Given the description of an element on the screen output the (x, y) to click on. 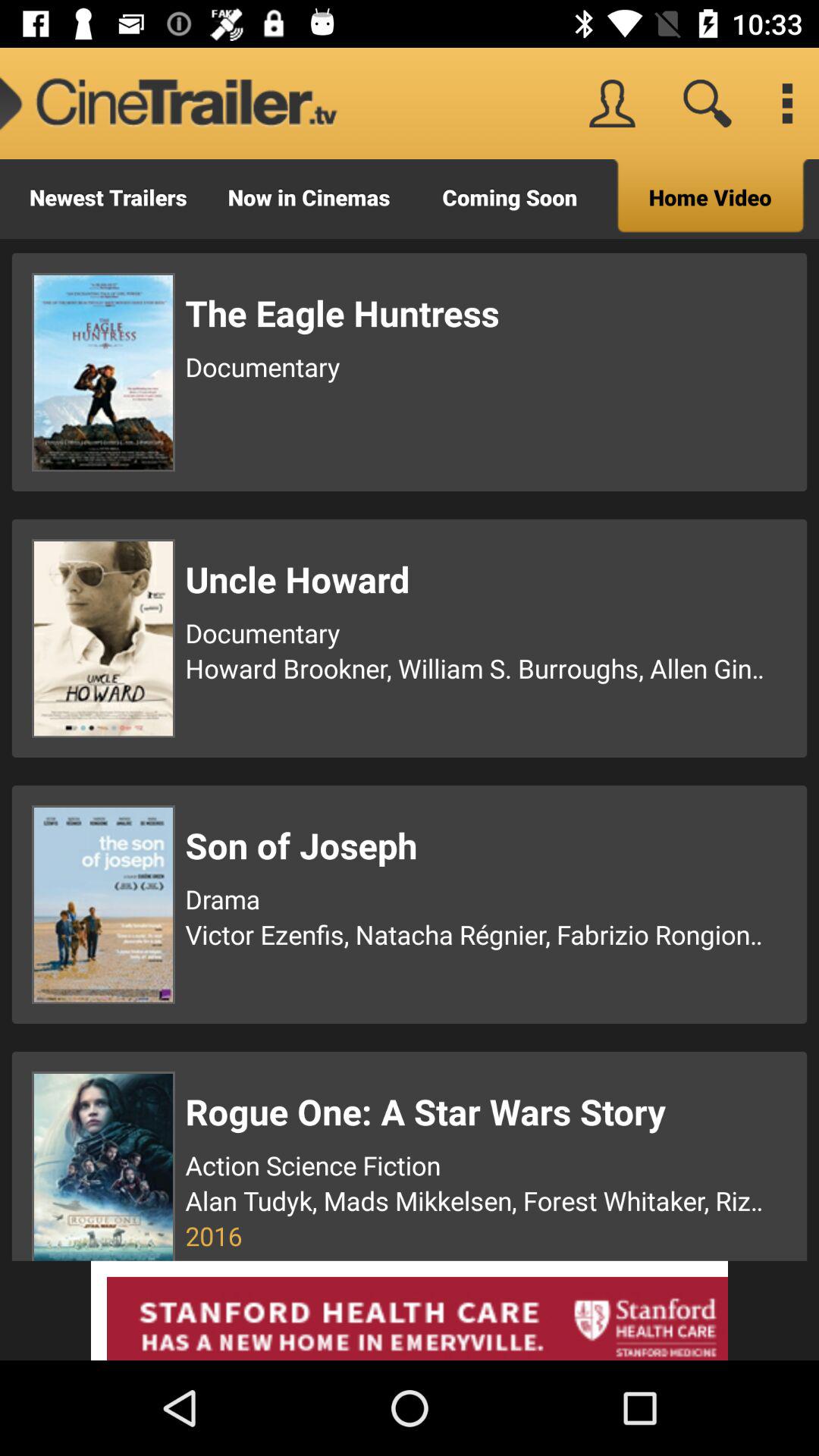
tap the item to the right of the coming soon item (710, 198)
